Given the description of an element on the screen output the (x, y) to click on. 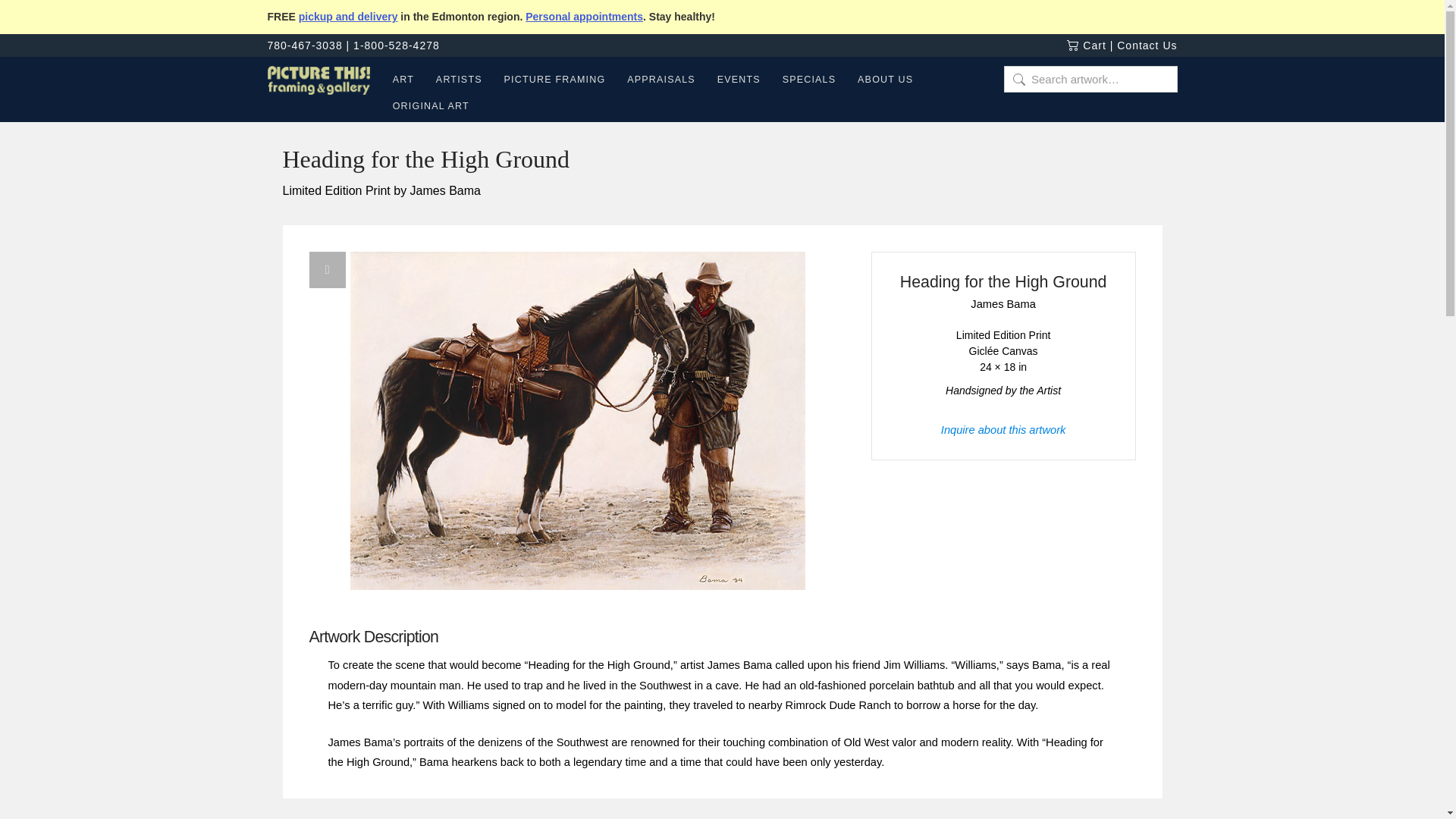
Inquire about this artwork (1002, 429)
EVENTS (738, 81)
pickup and delivery (347, 16)
PICTURE FRAMING (554, 81)
ARTISTS (459, 81)
Search (33, 17)
ORIGINAL ART (424, 108)
780-467-3038 (304, 45)
APPRAISALS (660, 81)
